Given the description of an element on the screen output the (x, y) to click on. 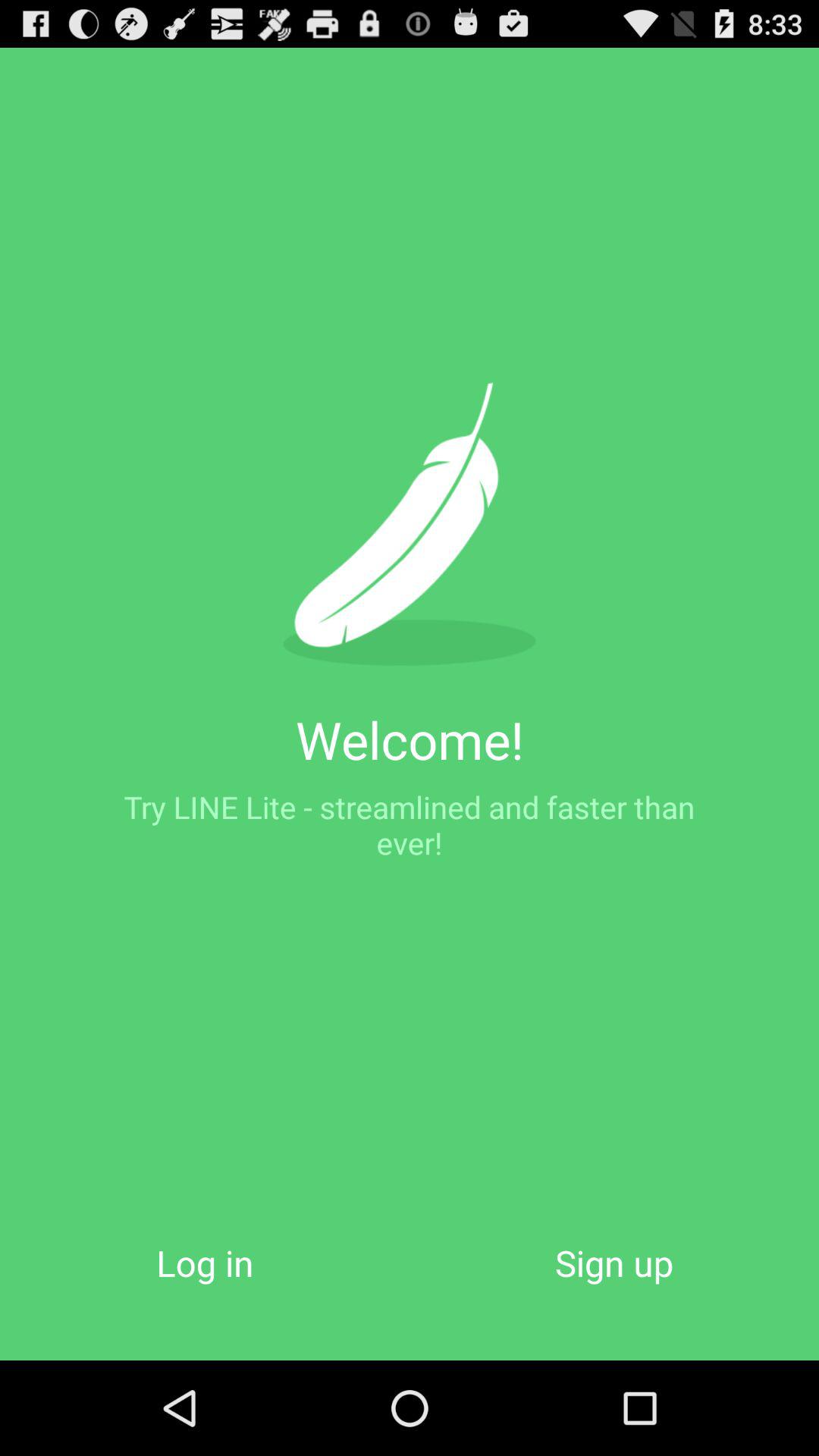
press the item to the left of sign up button (204, 1262)
